Given the description of an element on the screen output the (x, y) to click on. 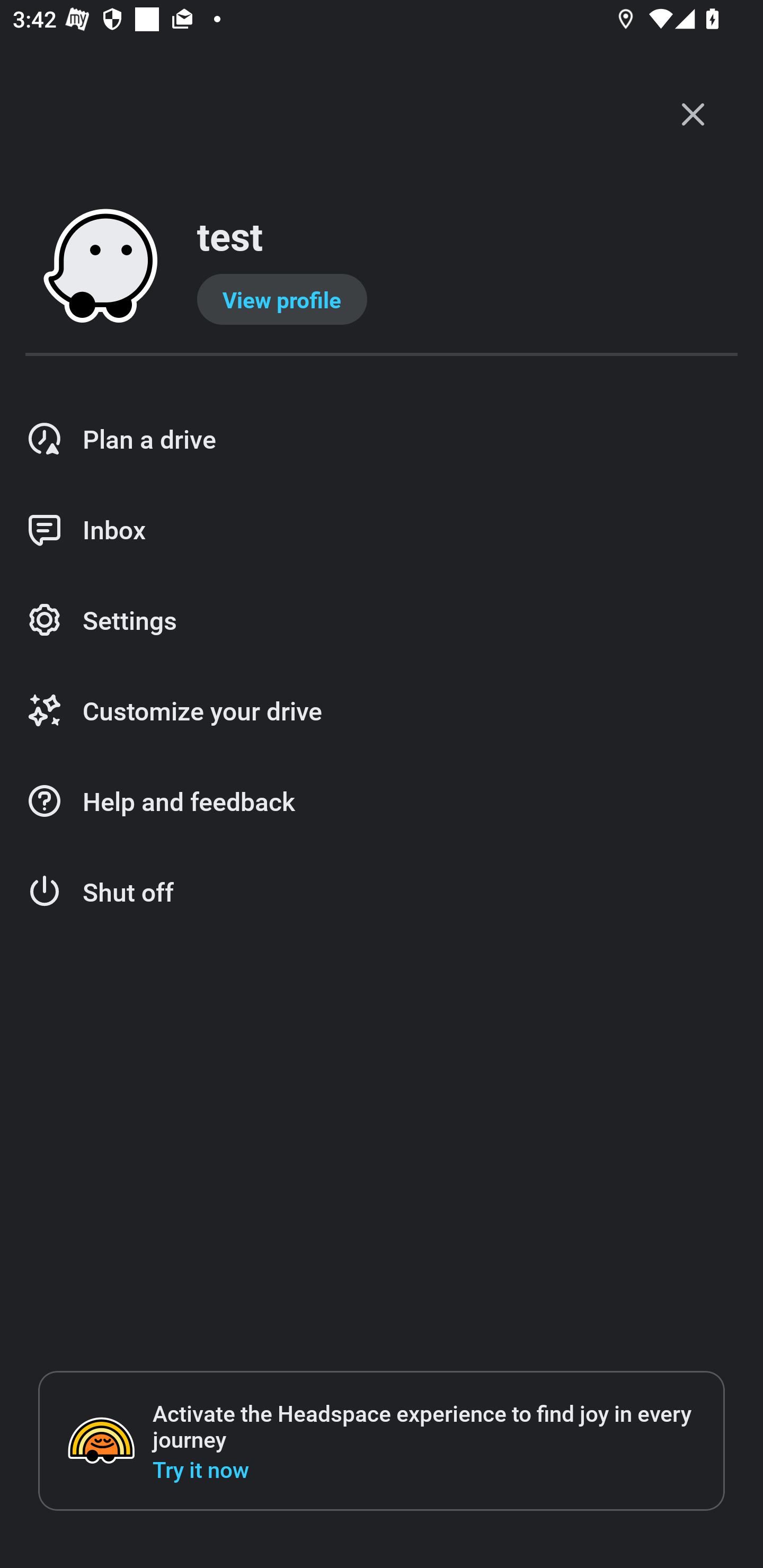
test View profile (381, 266)
View profile (281, 299)
ACTION_CELL_ICON Plan a drive ACTION_CELL_TEXT (381, 438)
ACTION_CELL_ICON Inbox ACTION_CELL_TEXT (381, 529)
ACTION_CELL_ICON Settings ACTION_CELL_TEXT (381, 620)
ACTION_CELL_ICON Shut off ACTION_CELL_TEXT (381, 891)
